Given the description of an element on the screen output the (x, y) to click on. 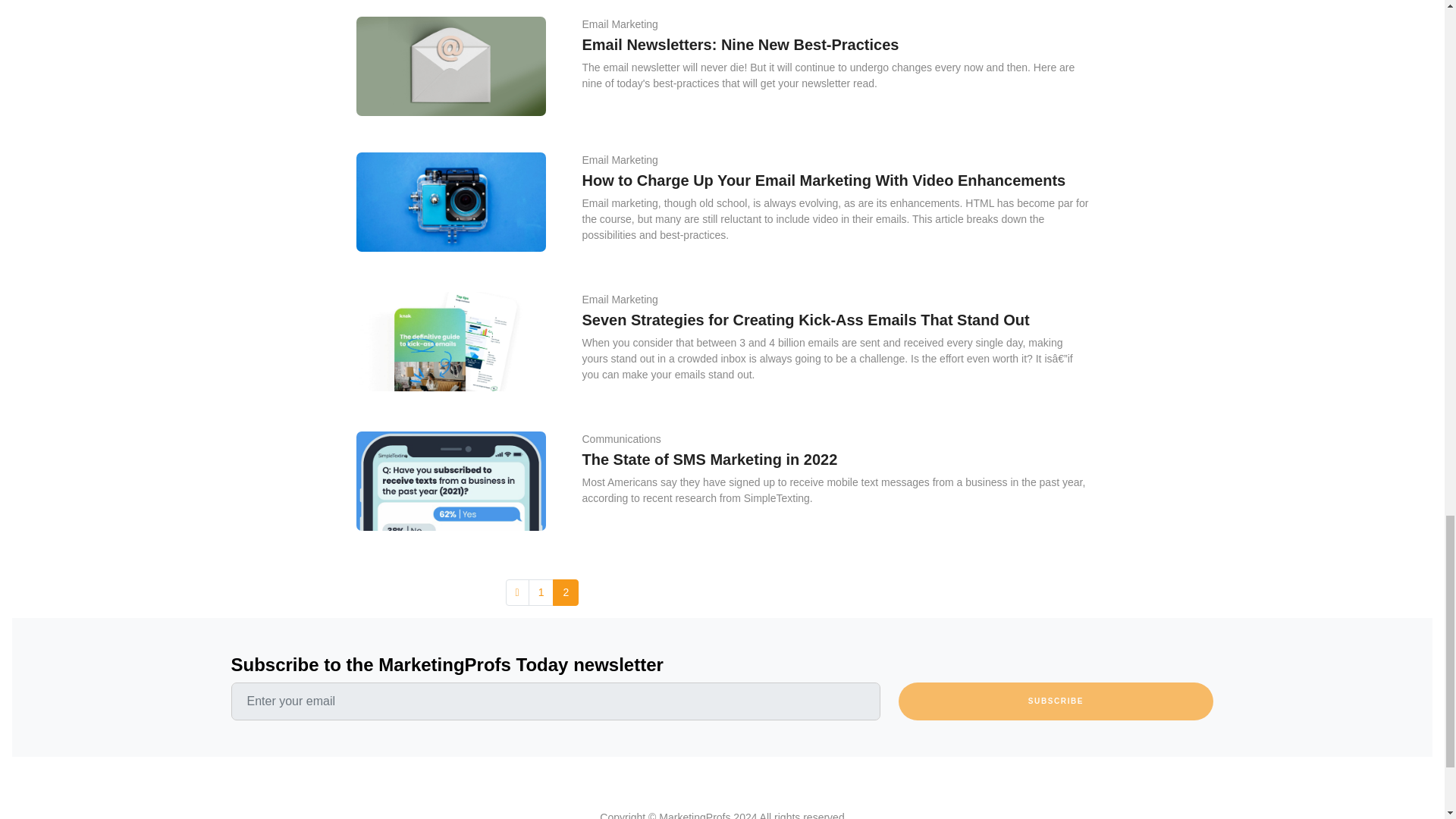
Subscribe (1055, 701)
